Given the description of an element on the screen output the (x, y) to click on. 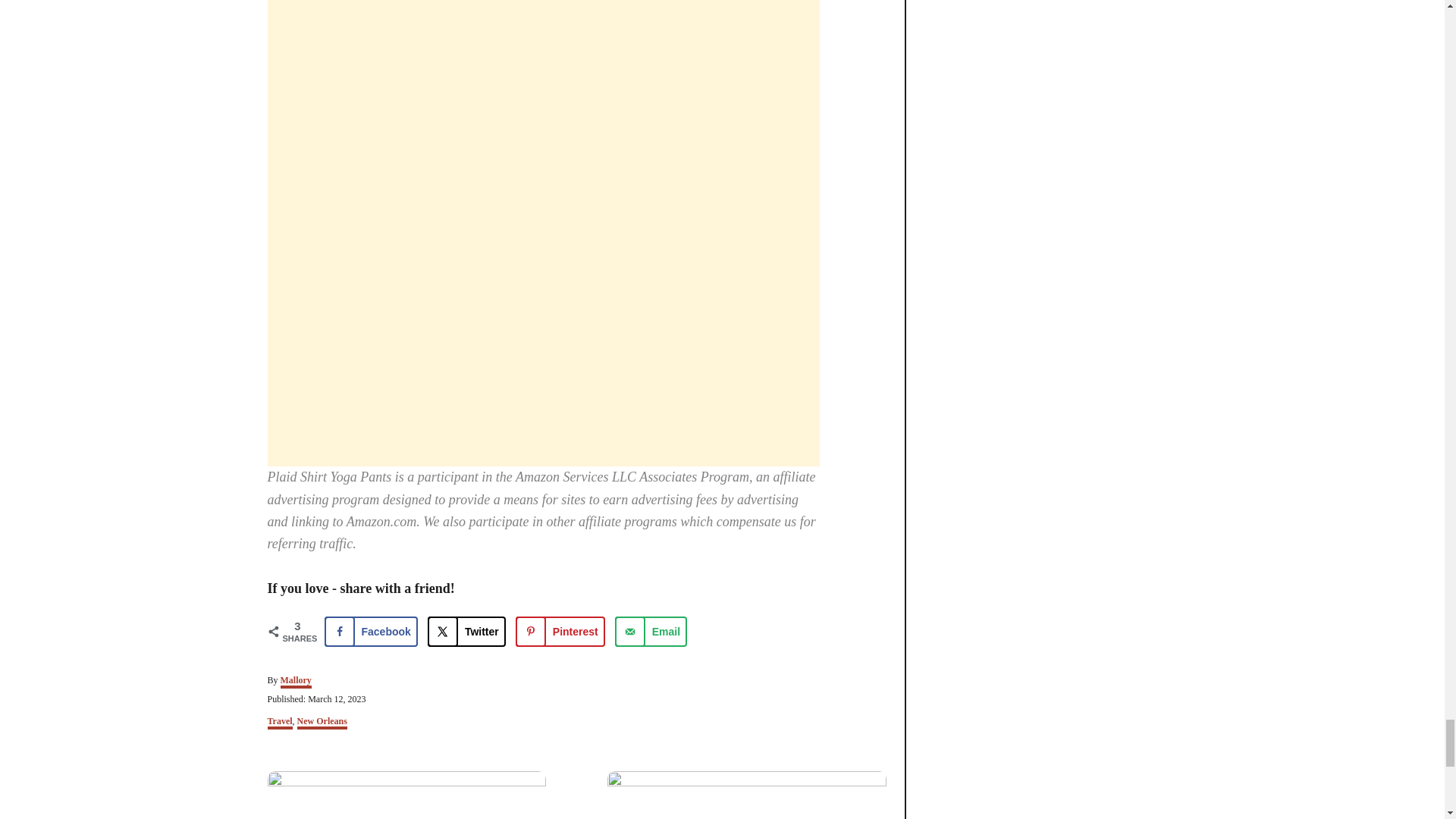
Pinterest (560, 631)
Twitter (466, 631)
Facebook (370, 631)
